Given the description of an element on the screen output the (x, y) to click on. 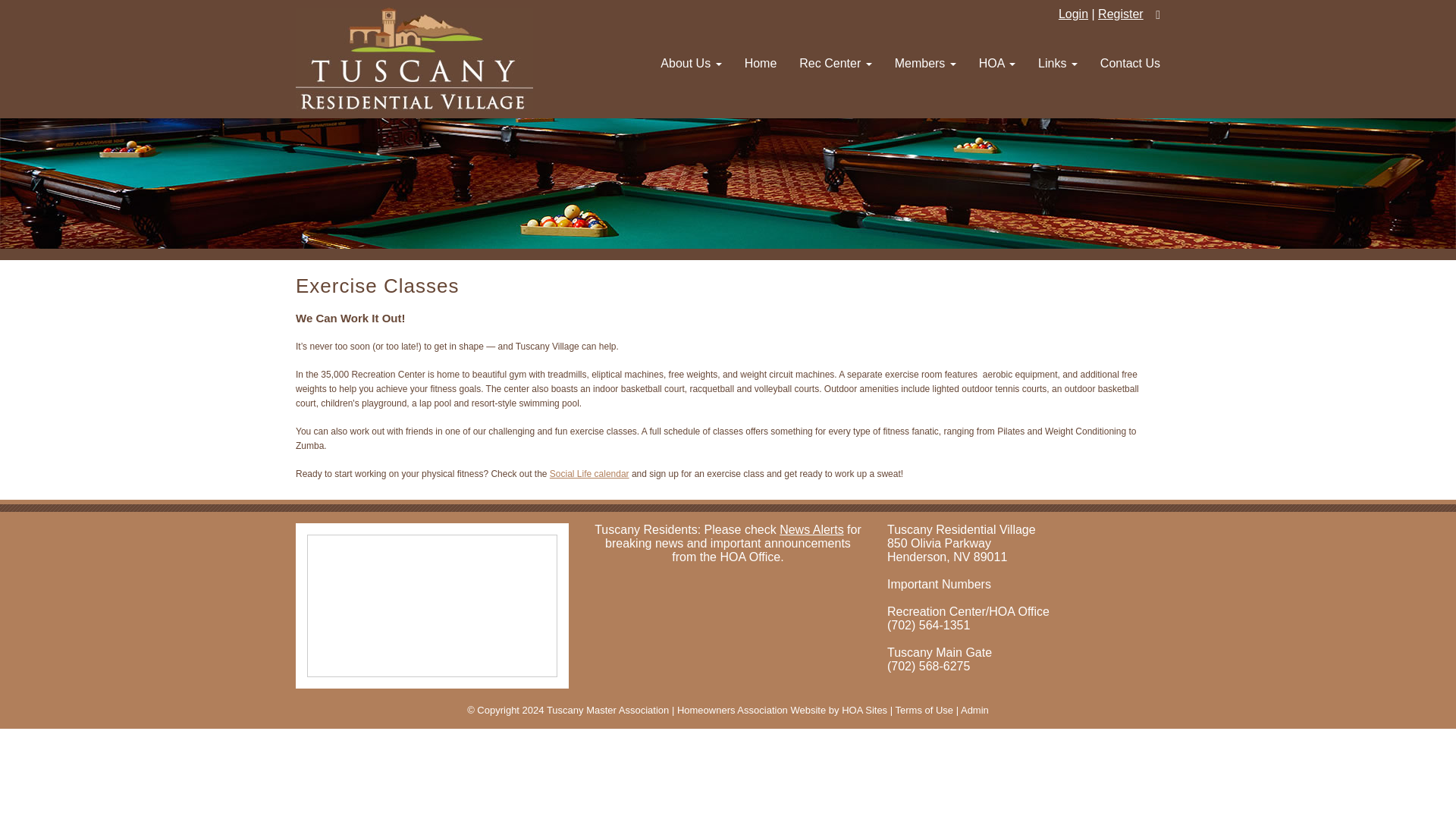
HOA (997, 63)
Rec Center (834, 63)
Register (1119, 13)
Members (925, 63)
About Us (690, 63)
Links (1057, 63)
Home (761, 63)
Login (1072, 13)
